Given the description of an element on the screen output the (x, y) to click on. 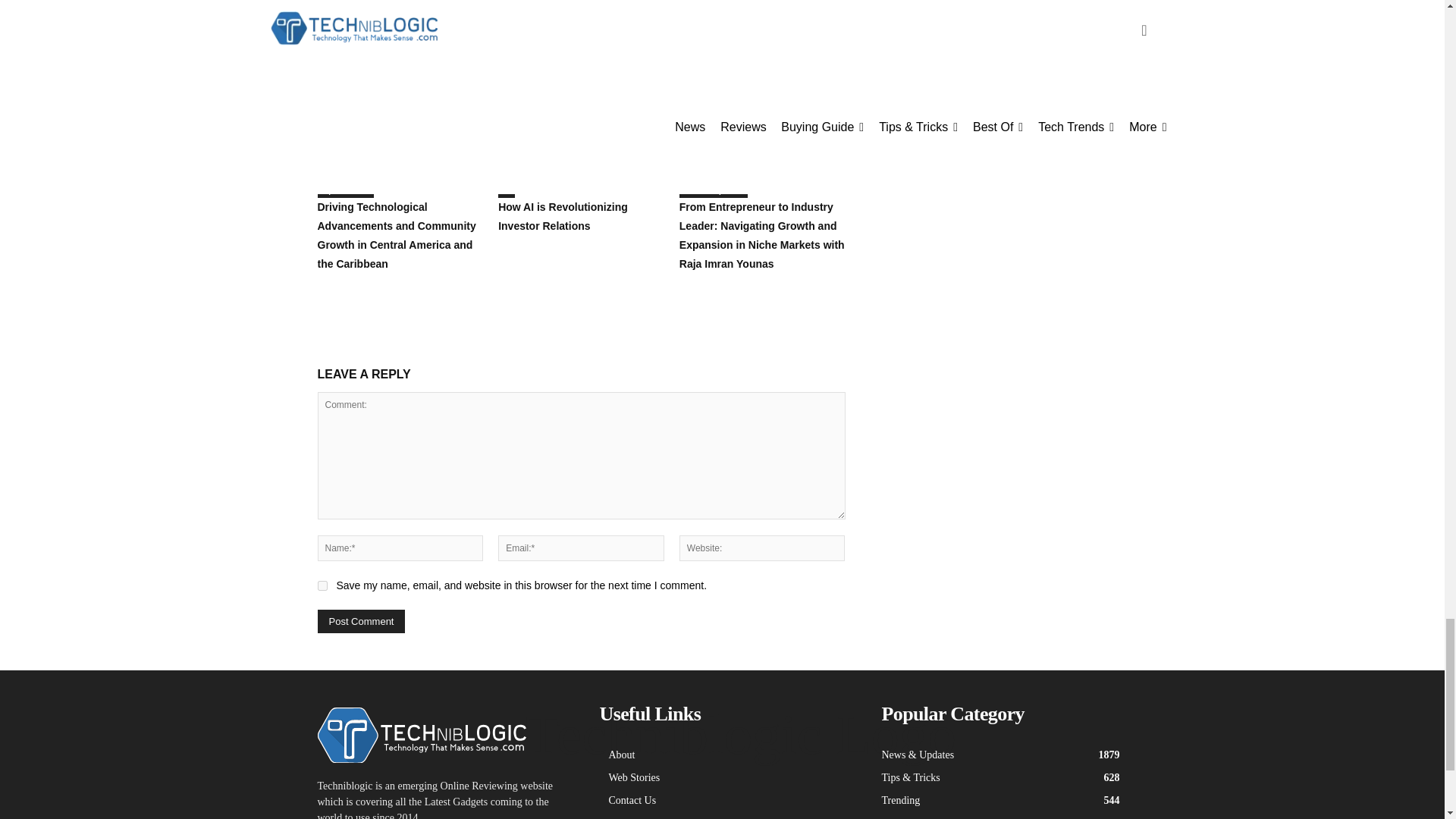
Post Comment (360, 621)
yes (321, 585)
